Given the description of an element on the screen output the (x, y) to click on. 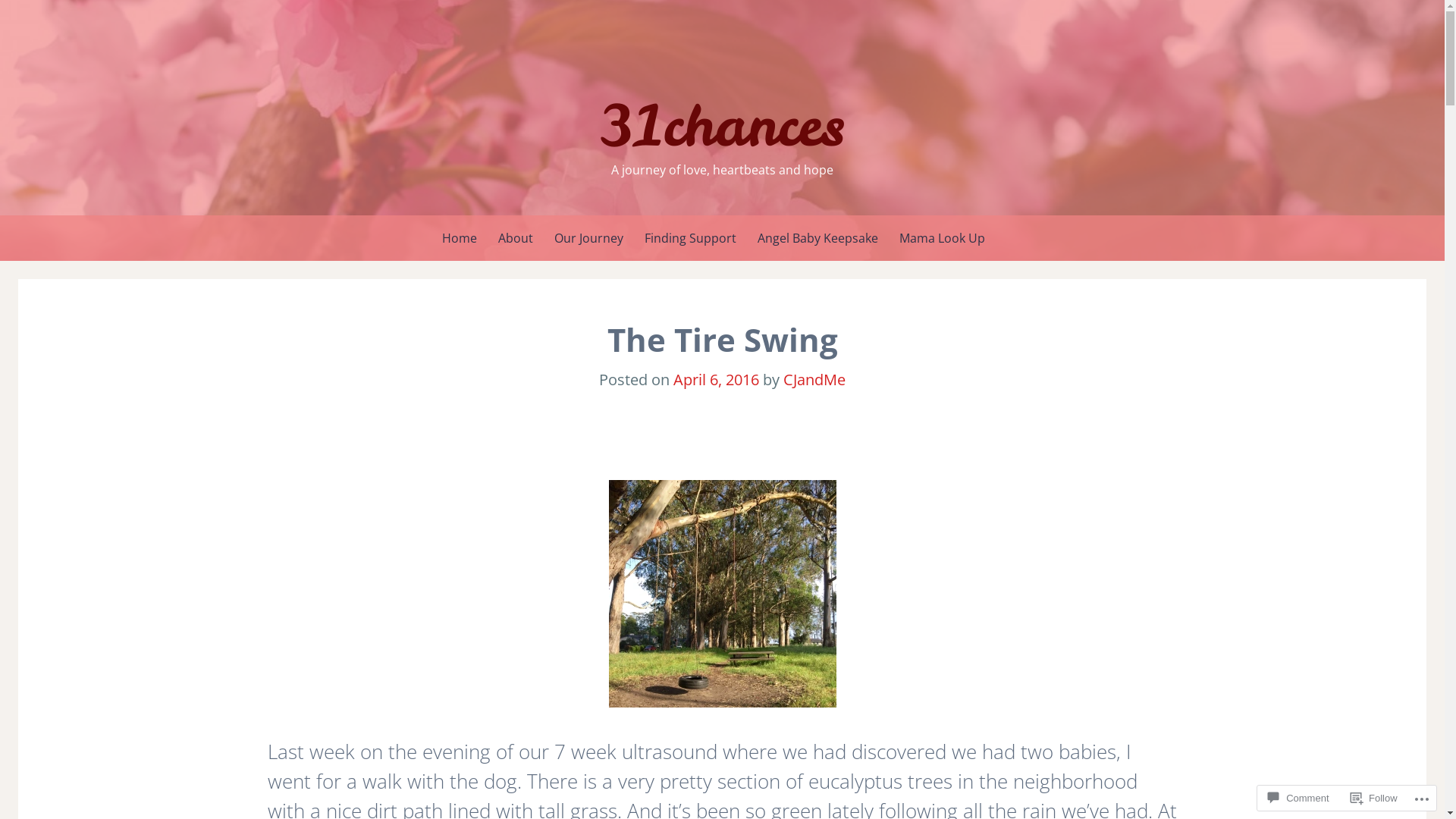
Angel Baby Keepsake Element type: text (816, 237)
About Element type: text (514, 237)
CJandMe Element type: text (814, 379)
Follow Element type: text (1373, 797)
31chances Element type: text (722, 125)
Comment Element type: text (1297, 797)
Search Element type: text (24, 13)
Finding Support Element type: text (690, 237)
Home Element type: text (458, 237)
April 6, 2016 Element type: text (716, 379)
Our Journey Element type: text (587, 237)
Mama Look Up Element type: text (942, 237)
